Given the description of an element on the screen output the (x, y) to click on. 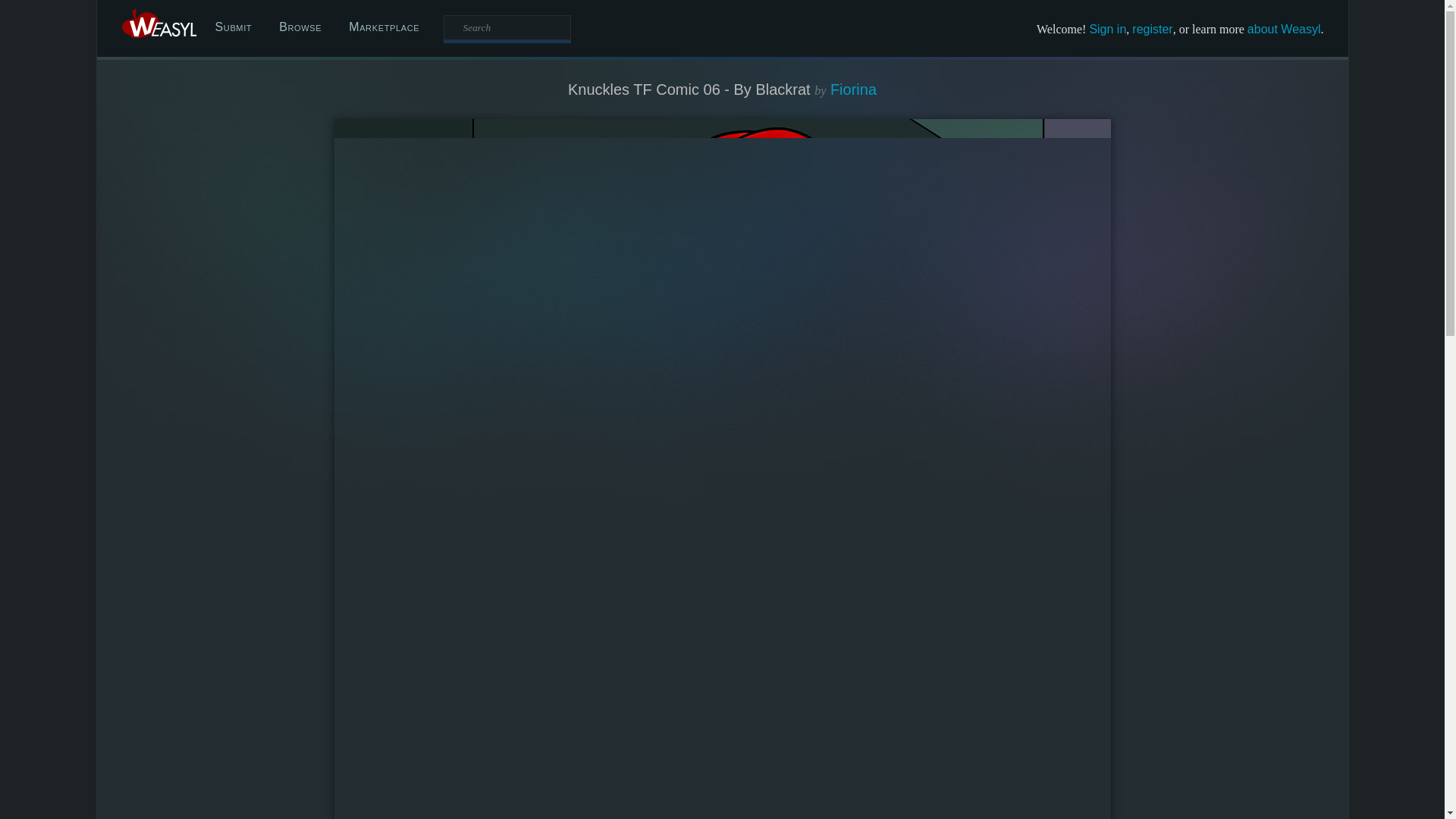
Marketplace (383, 27)
Fiorina (852, 89)
Sign in (1107, 29)
register (1152, 29)
Submit (233, 27)
Browse (299, 27)
about Weasyl (1283, 29)
Search Weasyl (507, 27)
